Given the description of an element on the screen output the (x, y) to click on. 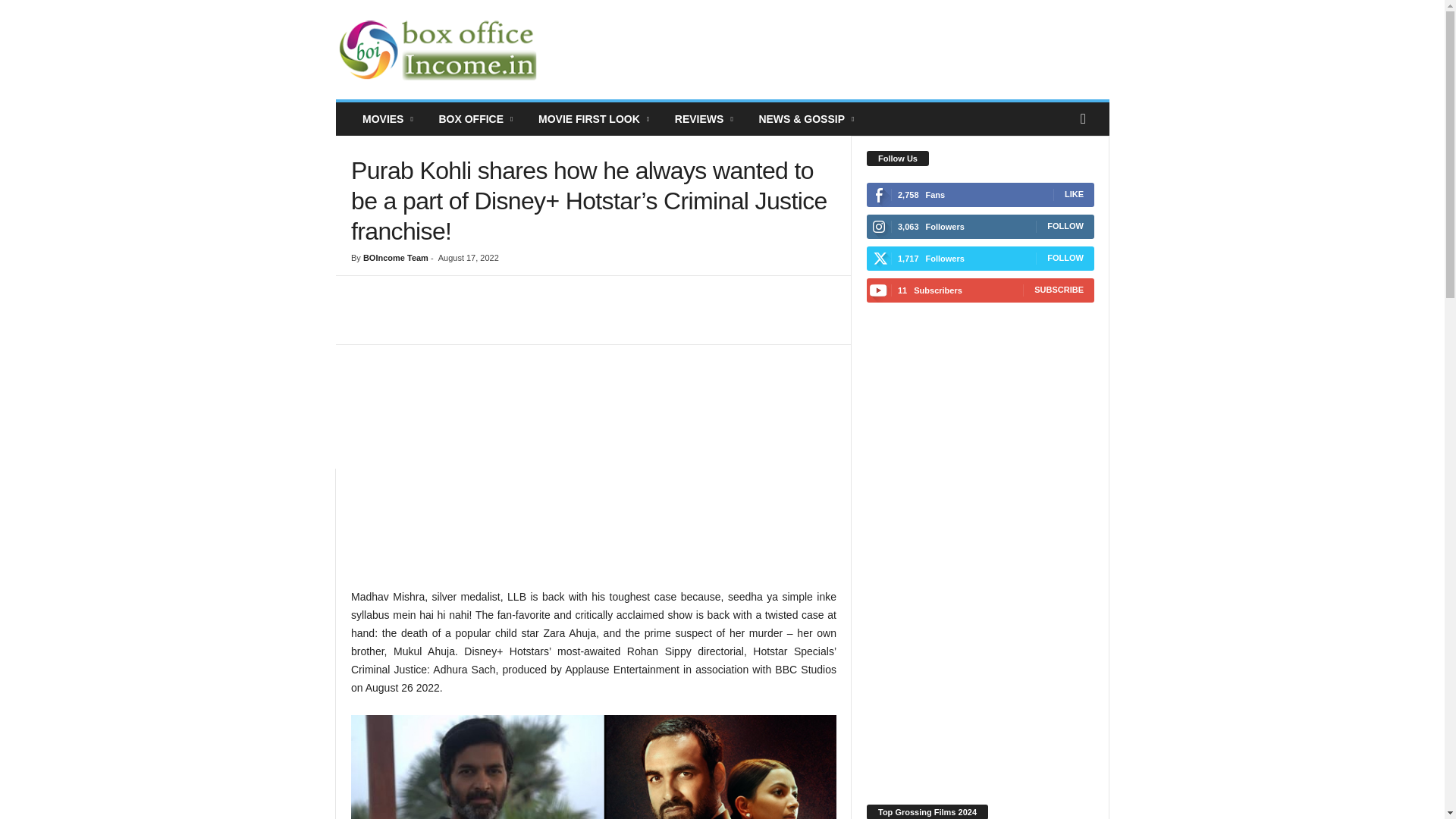
Advertisement (592, 473)
MOVIE FIRST LOOK (595, 118)
topFacebookLike (390, 291)
REVIEWS (705, 118)
MOVIES (388, 118)
BOX OFFICE (476, 118)
